Given the description of an element on the screen output the (x, y) to click on. 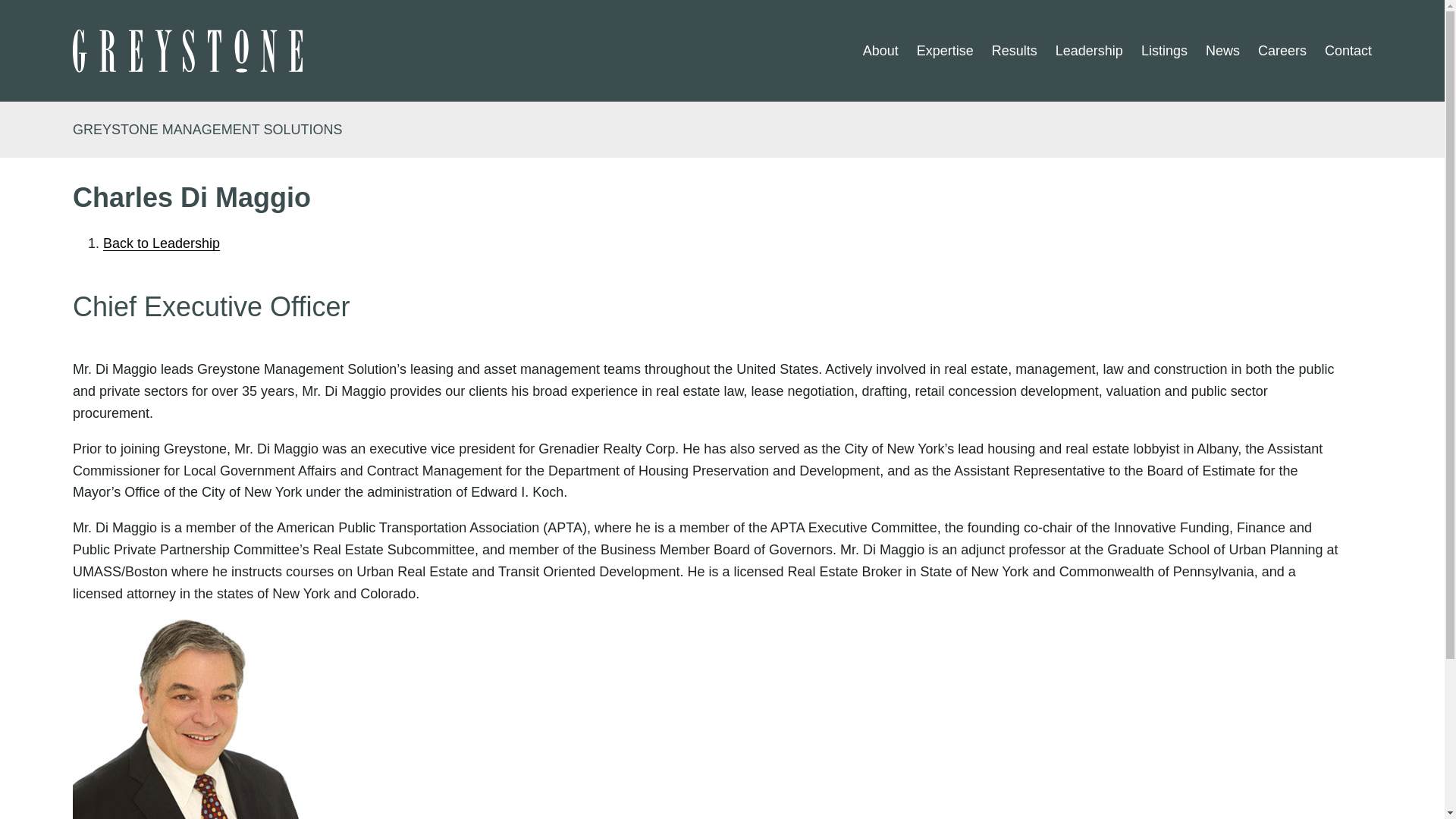
Contact (1347, 51)
Expertise (945, 51)
Back to Leadership (161, 242)
Results (1013, 51)
Listings (1164, 51)
Leadership (1088, 51)
View All Leadership (161, 242)
News (1222, 51)
Careers (1281, 51)
About (880, 51)
